Given the description of an element on the screen output the (x, y) to click on. 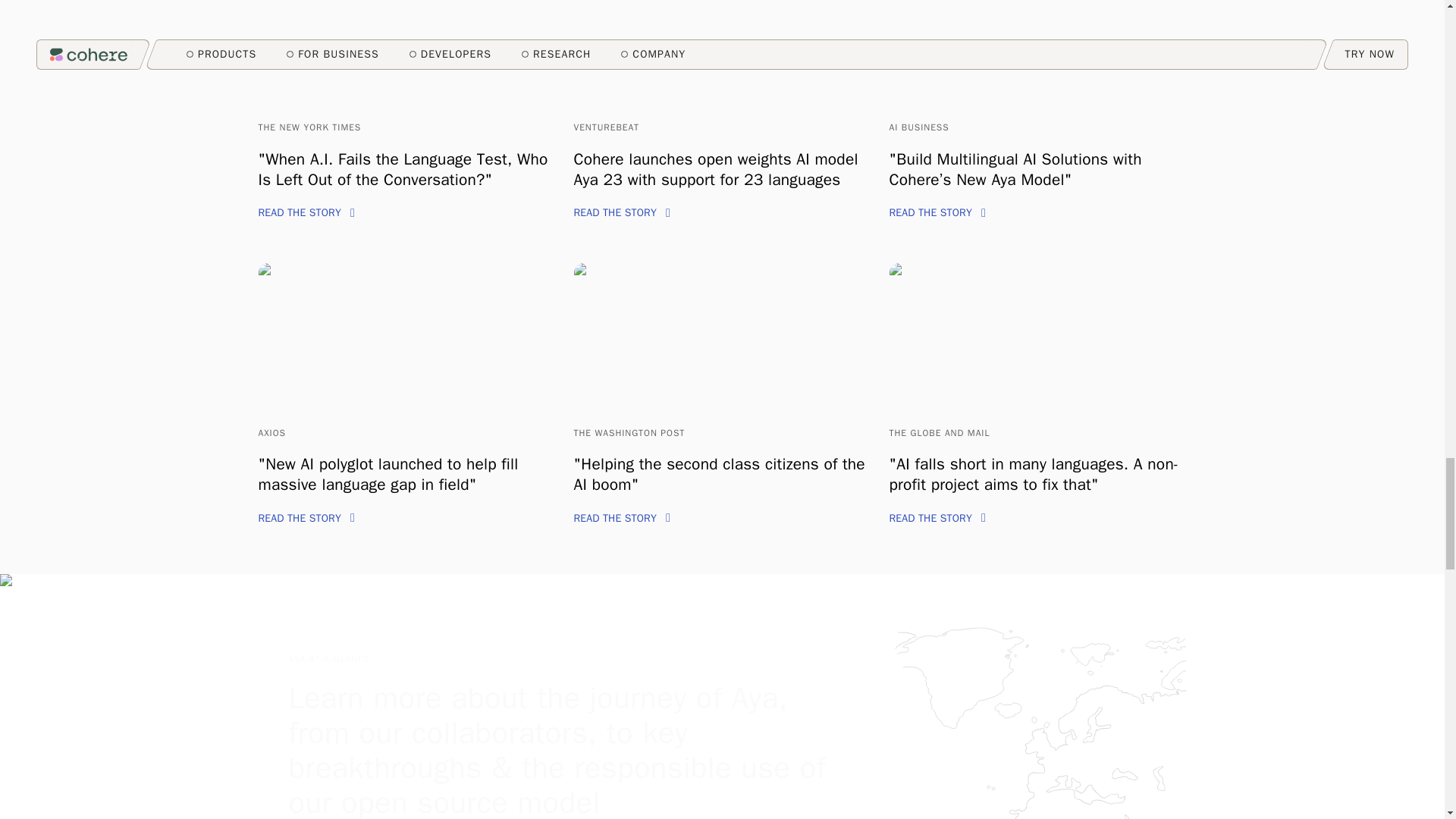
READ THE STORY (305, 518)
READ THE STORY (305, 212)
READ THE STORY (621, 212)
READ THE STORY (936, 212)
READ THE STORY (621, 518)
